Given the description of an element on the screen output the (x, y) to click on. 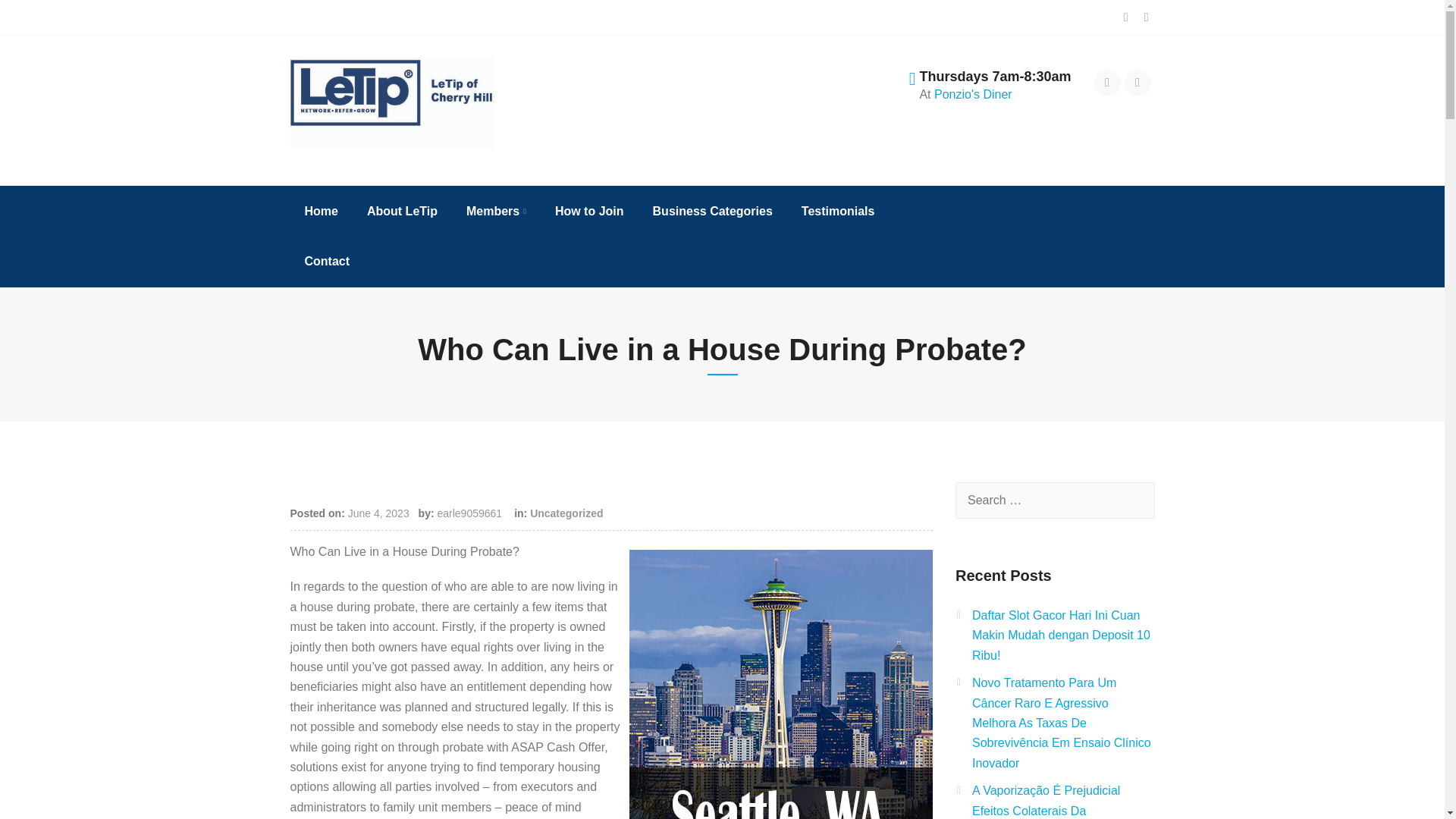
Home (321, 211)
Contact (327, 261)
Linkedin (1137, 82)
Testimonials (837, 211)
Facebook (1106, 82)
Members (496, 211)
Ponzio's Diner (972, 93)
How to Join (589, 211)
Business Categories (712, 211)
About LeTip (402, 211)
